Given the description of an element on the screen output the (x, y) to click on. 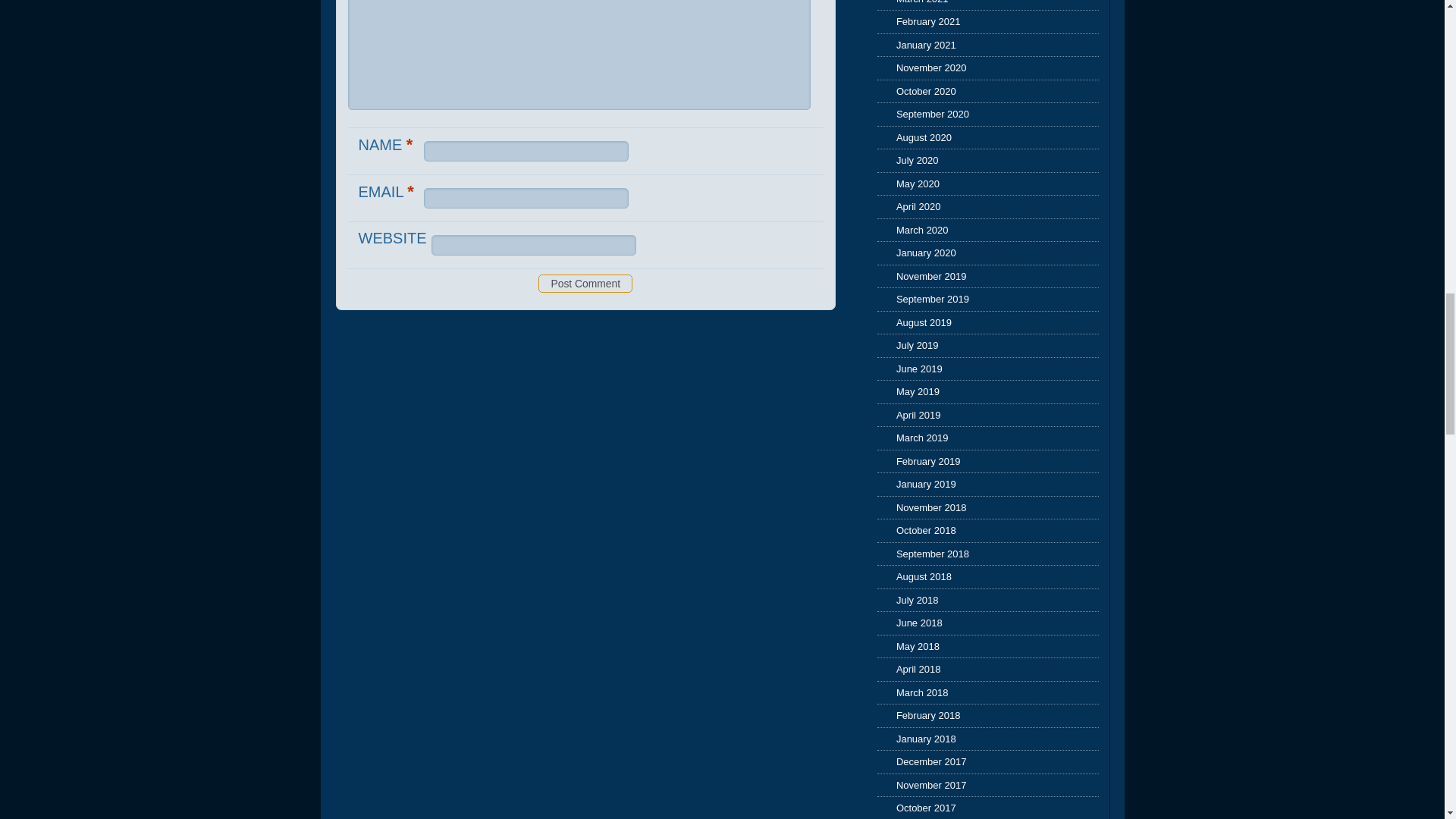
Post Comment (584, 283)
